Given the description of an element on the screen output the (x, y) to click on. 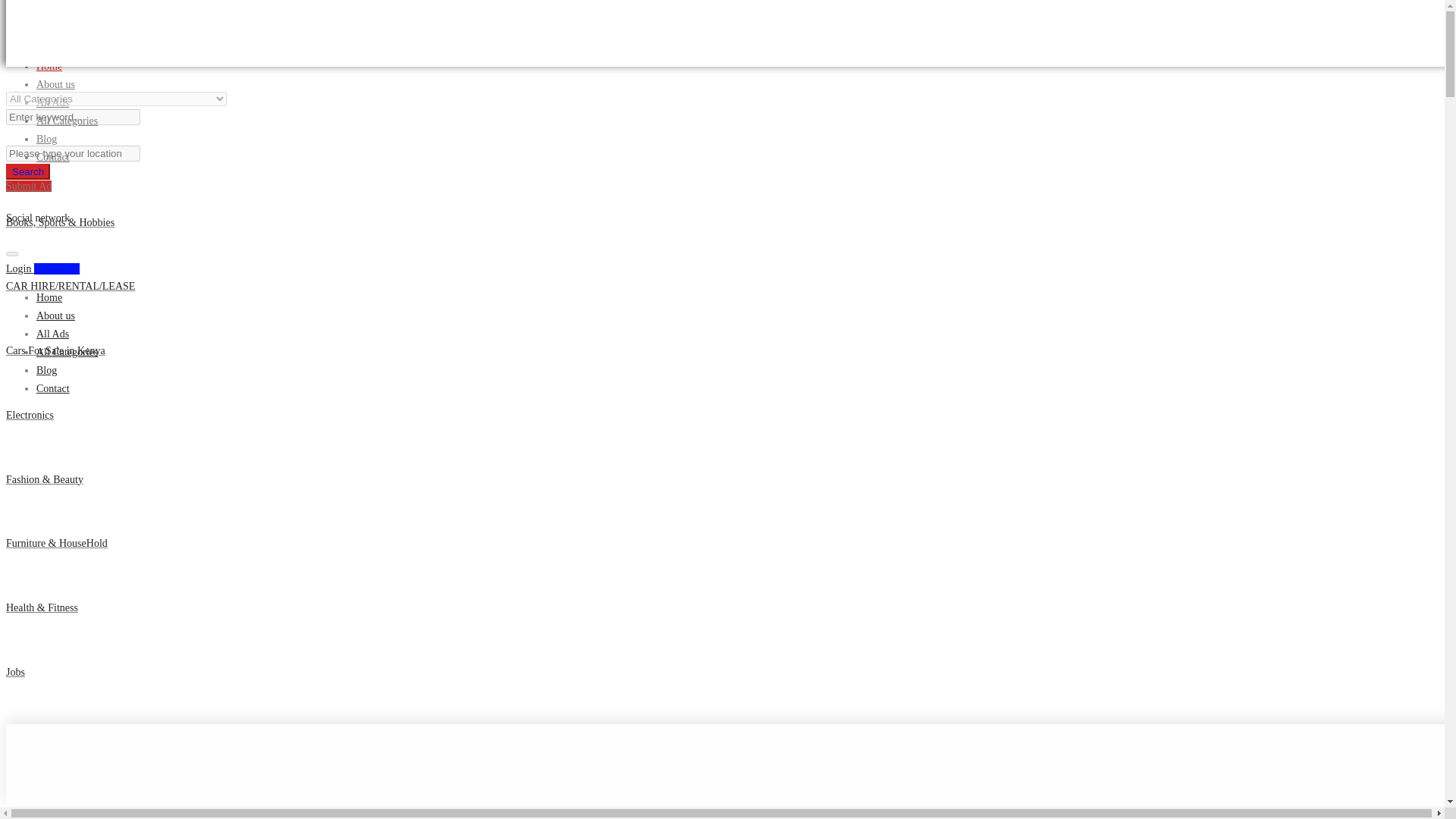
Contact (52, 388)
About us (55, 84)
Home (49, 297)
About us (55, 315)
Kenya (721, 735)
All Categories (66, 351)
Contact (52, 156)
Blog (46, 138)
Home (49, 66)
All Ads (52, 102)
Home (49, 297)
Get Registered (62, 37)
All Categories (66, 120)
Submit Ad (58, 37)
All Ads (52, 333)
